Given the description of an element on the screen output the (x, y) to click on. 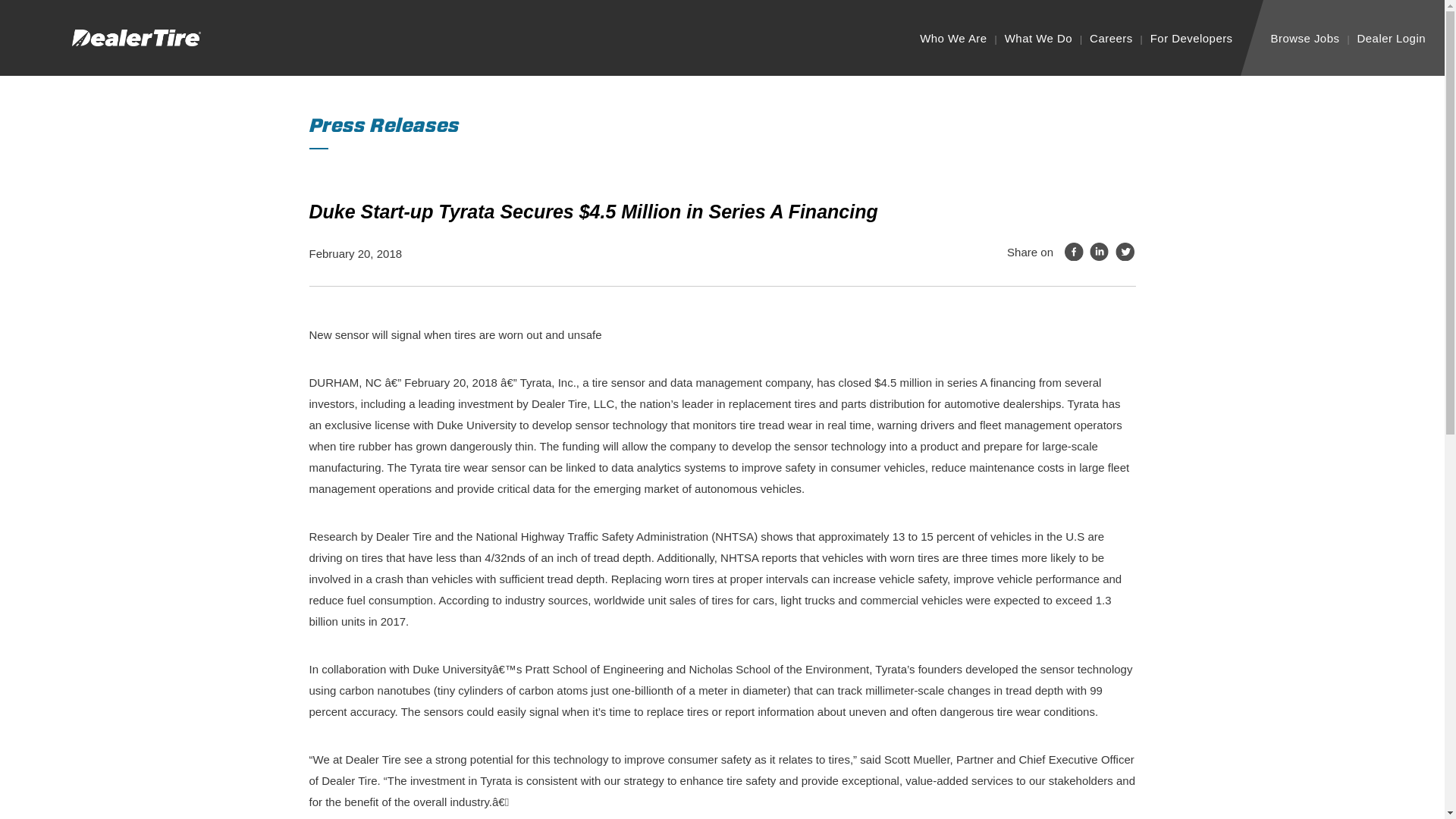
Dealer Login (1390, 38)
For Developers (1191, 38)
What We Do (1037, 38)
Who We Are (953, 38)
Careers (1110, 38)
Browse Jobs (1305, 38)
